Given the description of an element on the screen output the (x, y) to click on. 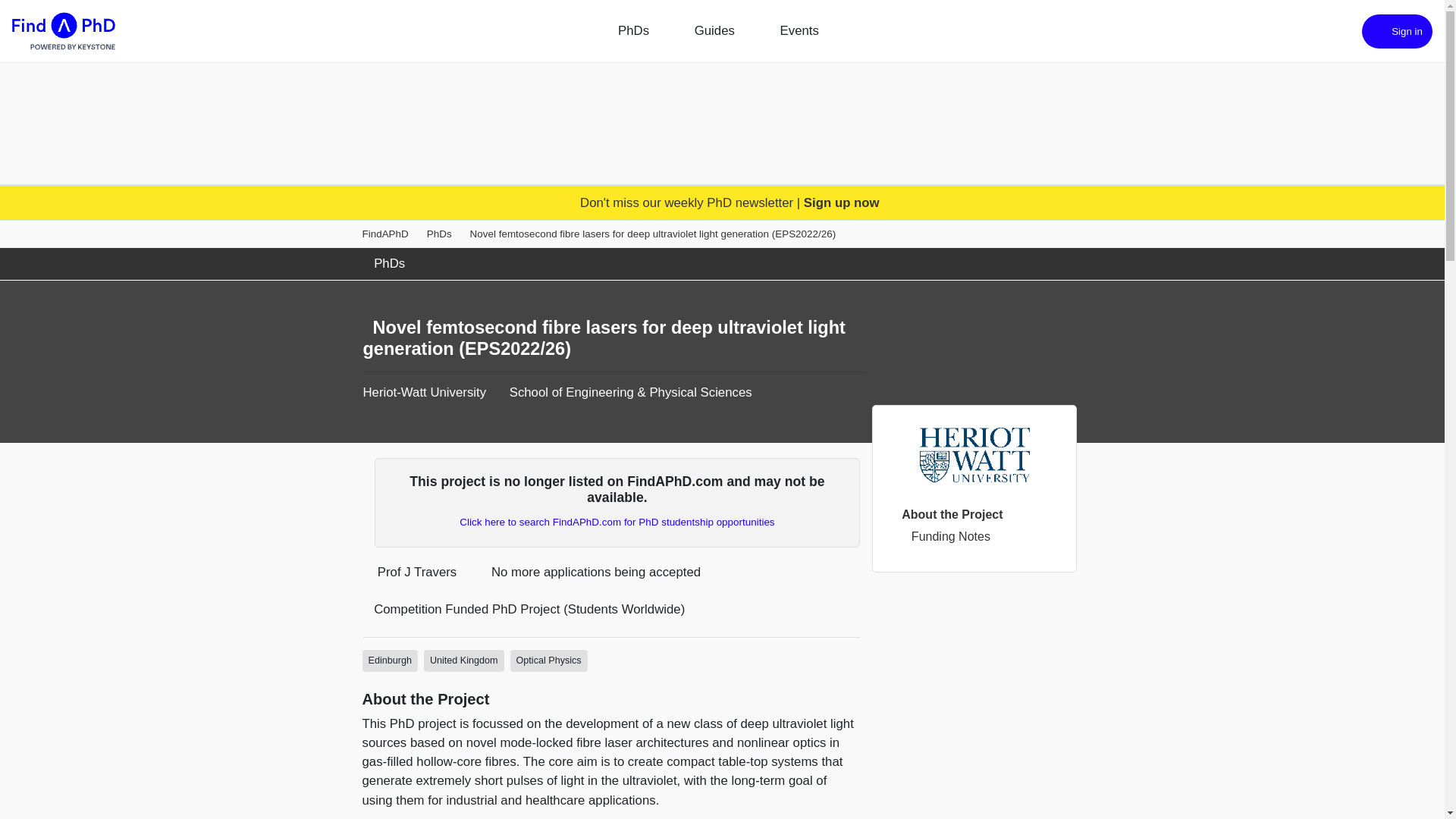
FindAPhD.com (63, 31)
Search FindAPhD.com for PhD projects (617, 521)
FindAPhD (385, 233)
View all PhDs at Heriot-Watt University (424, 391)
